Given the description of an element on the screen output the (x, y) to click on. 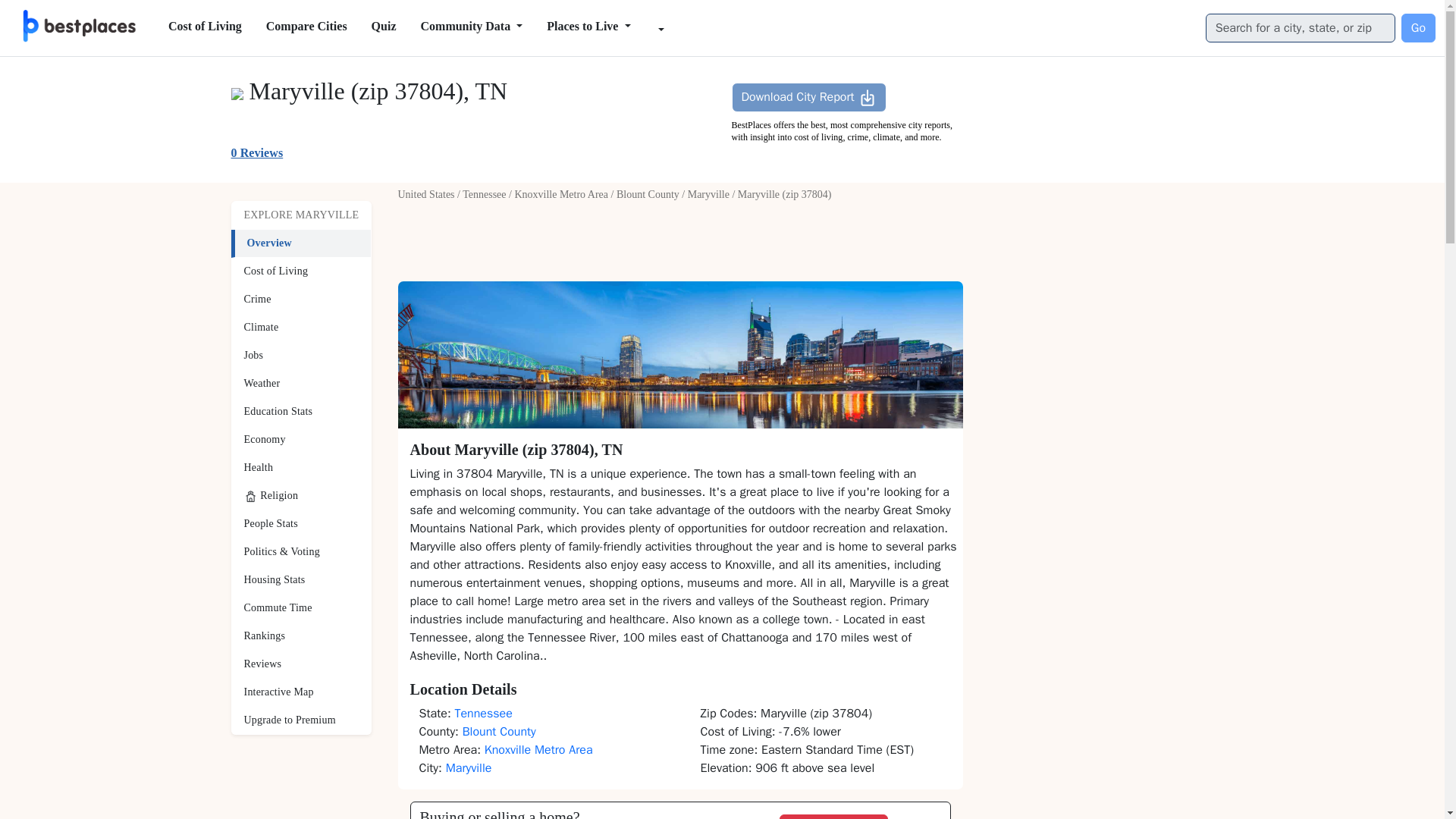
Go (1417, 27)
Places to Live (588, 26)
Download City Report (807, 97)
0 Reviews (256, 152)
Quiz (384, 26)
Compare Cities (306, 26)
Go (1417, 27)
Community Data (470, 26)
Cost of Living (204, 26)
